Given the description of an element on the screen output the (x, y) to click on. 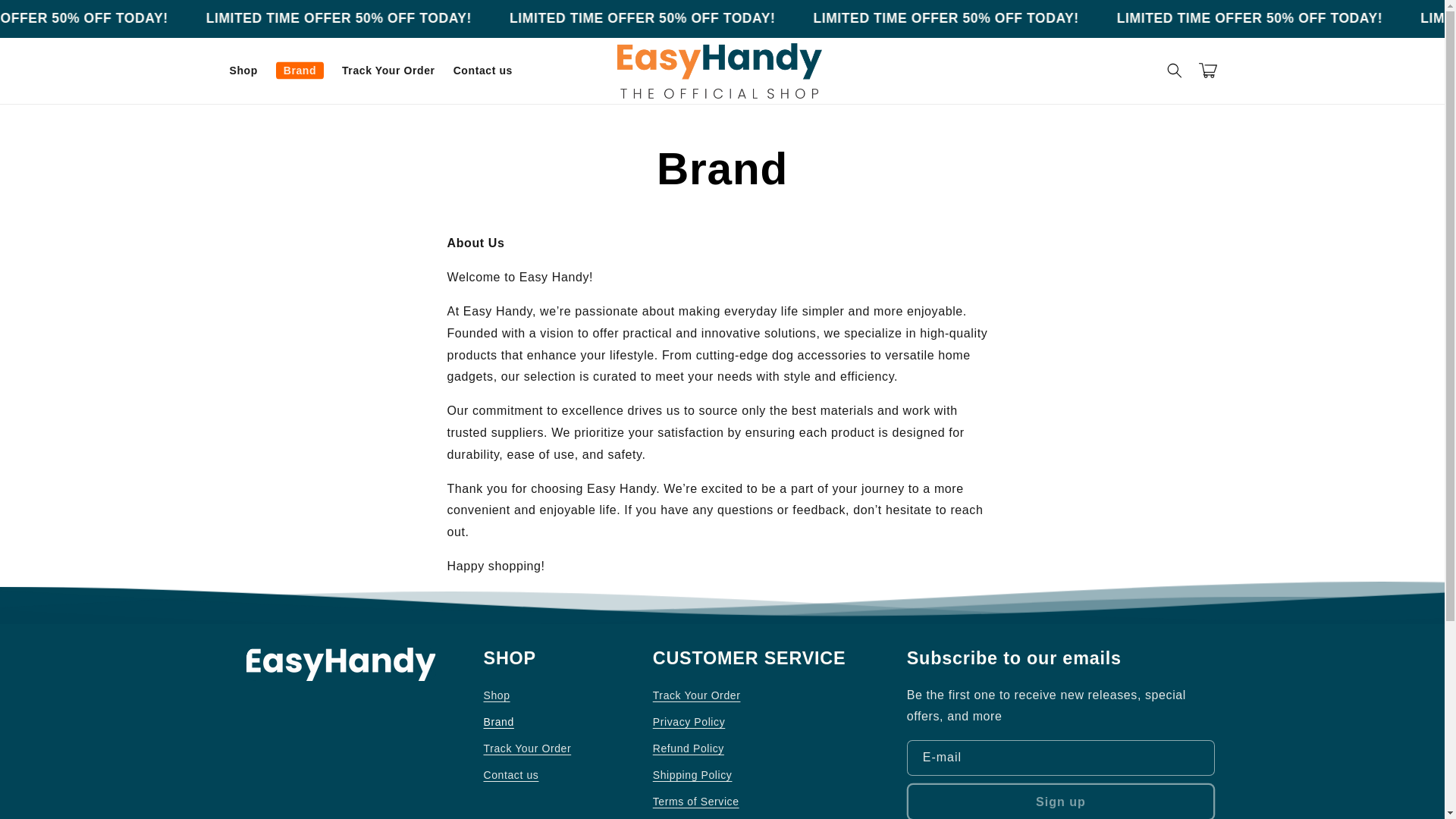
Track Your Order (696, 697)
Shop (242, 70)
Ignorer et passer au contenu (46, 18)
Track Your Order (388, 70)
Track Your Order (527, 748)
Privacy Policy (688, 722)
Shop (497, 697)
Panier (1207, 70)
Brand (498, 722)
Contact us (482, 70)
